Given the description of an element on the screen output the (x, y) to click on. 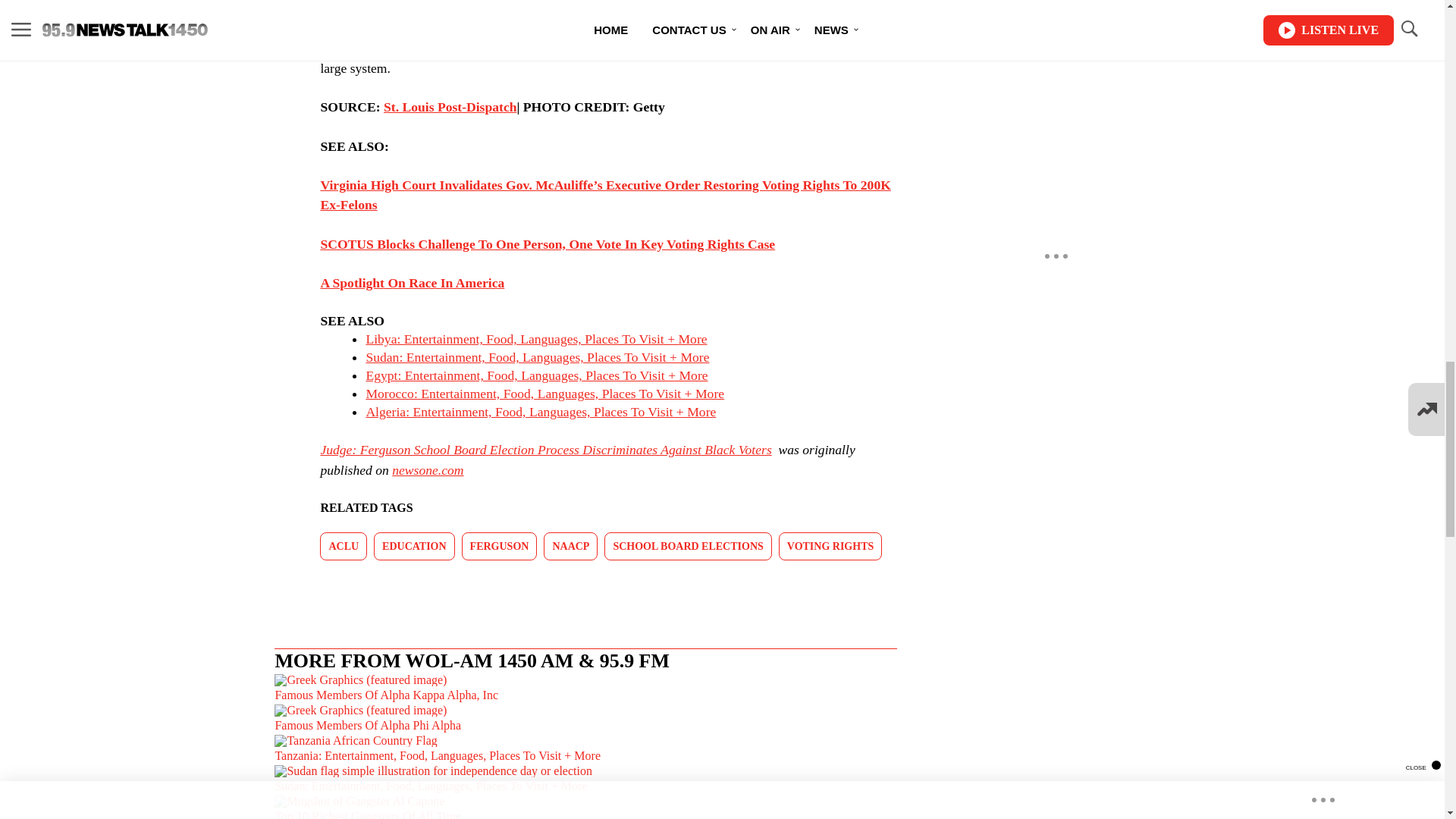
EDUCATION (414, 546)
newsone.com (427, 469)
St. Louis Post-Dispatch (450, 106)
A Spotlight On Race In America (411, 282)
ACLU (343, 546)
